Given the description of an element on the screen output the (x, y) to click on. 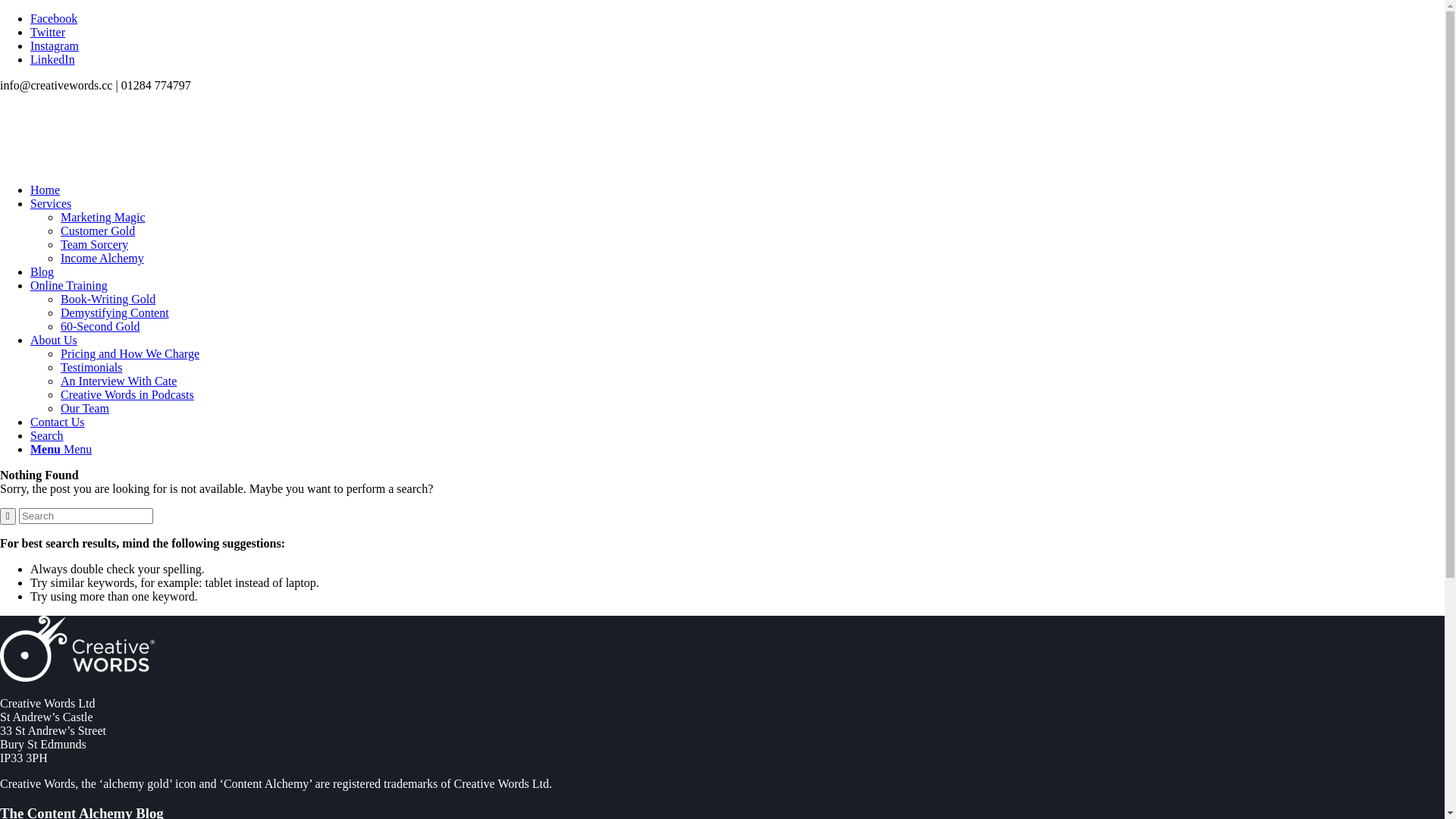
Book-Writing Gold Element type: text (107, 298)
Online Training Element type: text (68, 285)
Customer Gold Element type: text (97, 230)
Marketing Magic Element type: text (102, 216)
Home Element type: text (44, 189)
Our Team Element type: text (84, 407)
An Interview With Cate Element type: text (118, 380)
Instagram Element type: text (54, 45)
About Us Element type: text (53, 339)
Contact Us Element type: text (57, 421)
Search Element type: text (46, 435)
Demystifying Content Element type: text (114, 312)
Testimonials Element type: text (91, 366)
Creative Words in Podcasts Element type: text (127, 394)
Blog Element type: text (41, 271)
60-Second Gold Element type: text (99, 326)
Pricing and How We Charge Element type: text (129, 353)
Twitter Element type: text (47, 31)
Facebook Element type: text (53, 18)
Services Element type: text (50, 203)
Income Alchemy Element type: text (102, 257)
LinkedIn Element type: text (52, 59)
Team Sorcery Element type: text (94, 244)
Menu Menu Element type: text (60, 448)
